Given the description of an element on the screen output the (x, y) to click on. 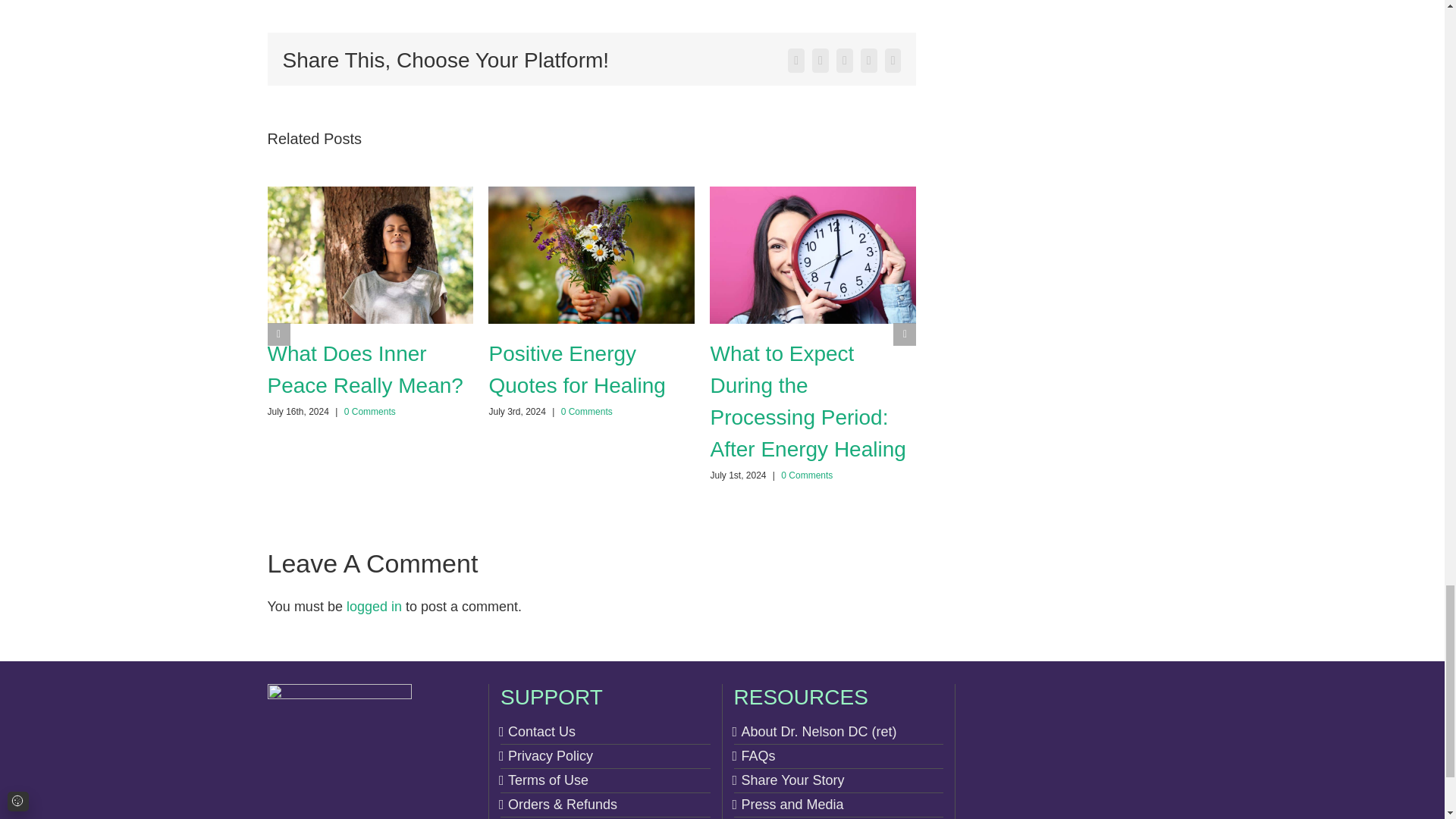
What Does Inner Peace Really Mean? (364, 369)
